Given the description of an element on the screen output the (x, y) to click on. 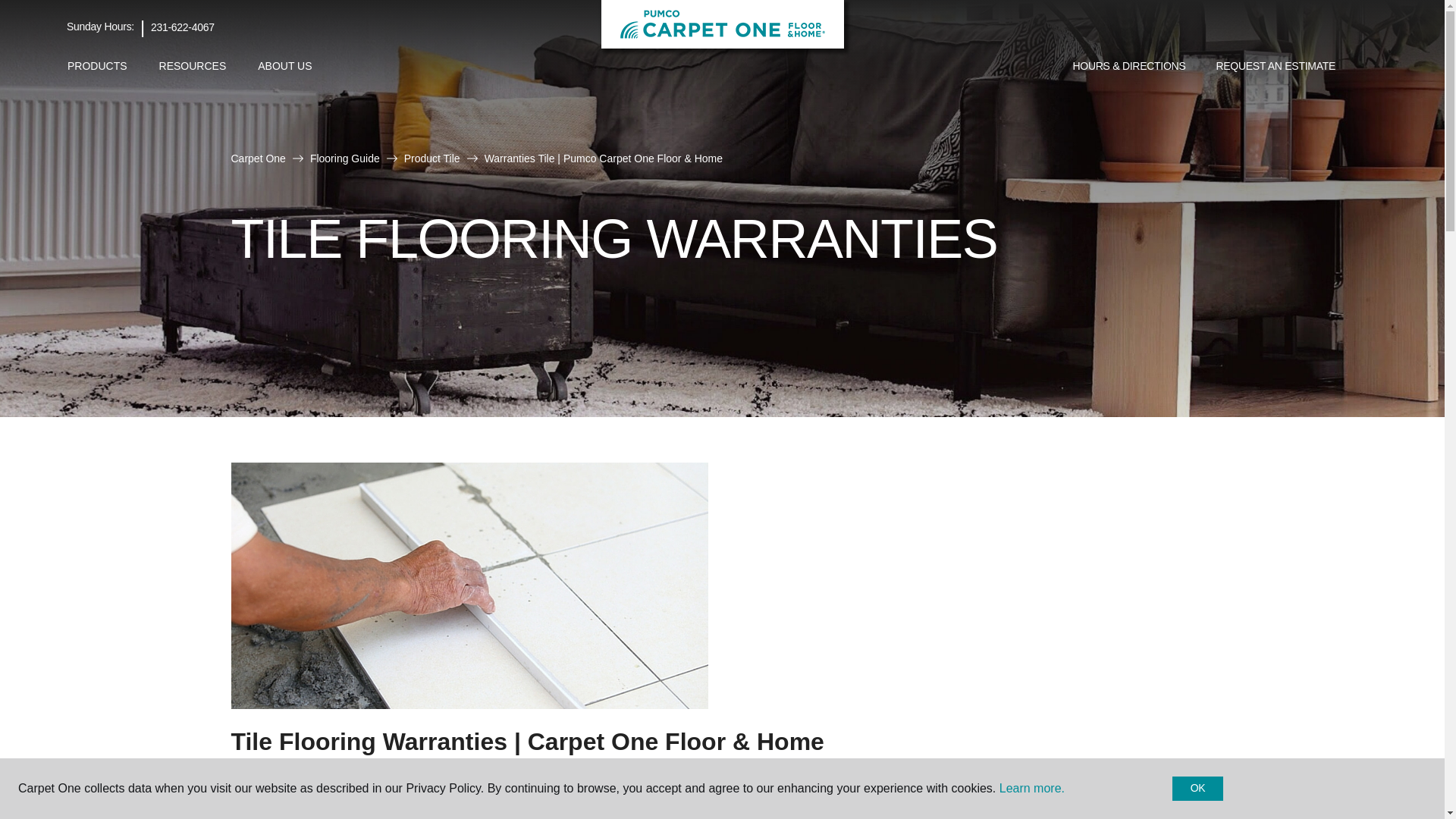
PRODUCTS (97, 66)
ABOUT US (284, 66)
231-622-4067 (182, 27)
RESOURCES (193, 66)
REQUEST AN ESTIMATE (1276, 66)
